Given the description of an element on the screen output the (x, y) to click on. 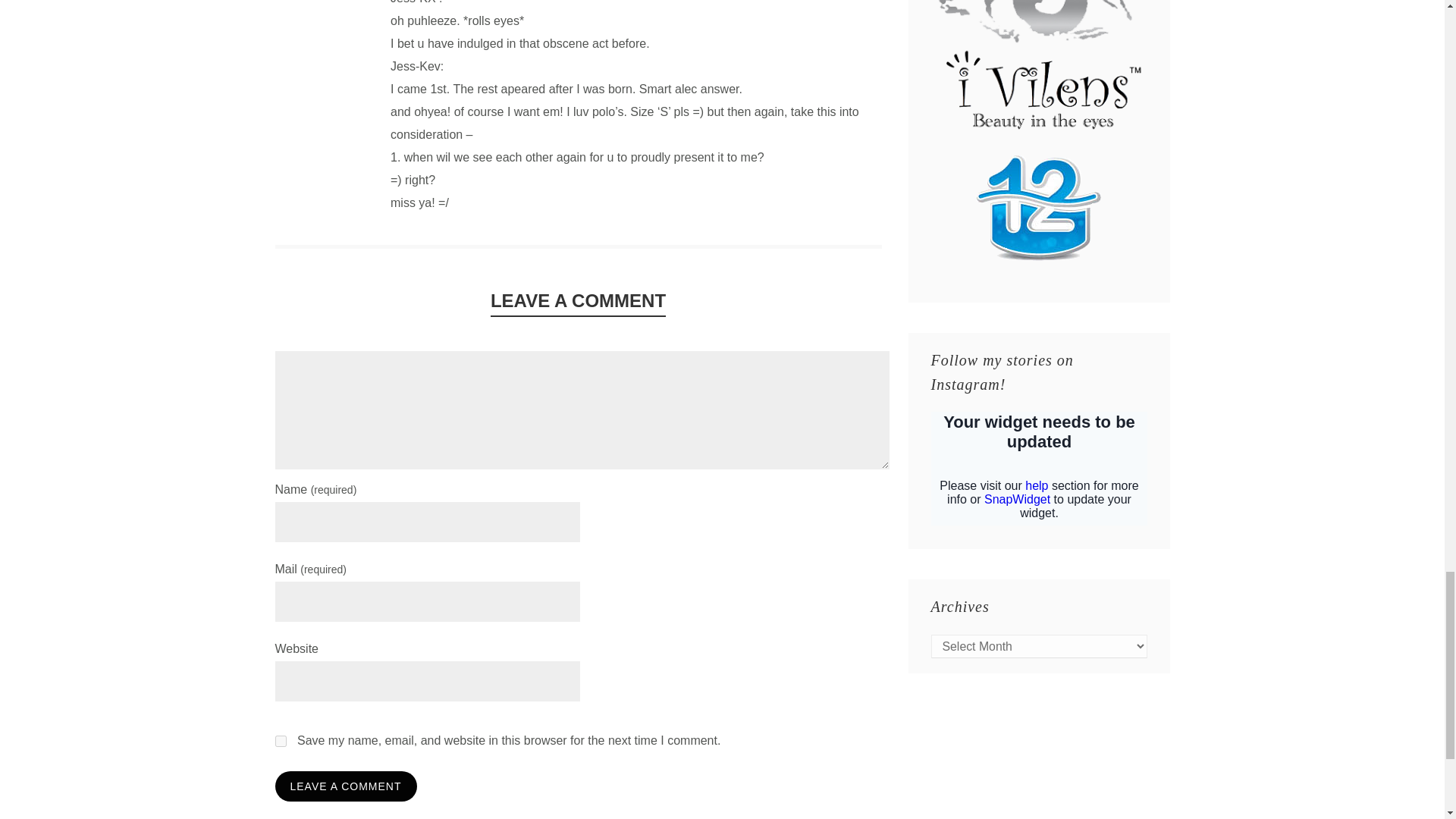
yes (280, 740)
Leave a Comment (345, 786)
